Given the description of an element on the screen output the (x, y) to click on. 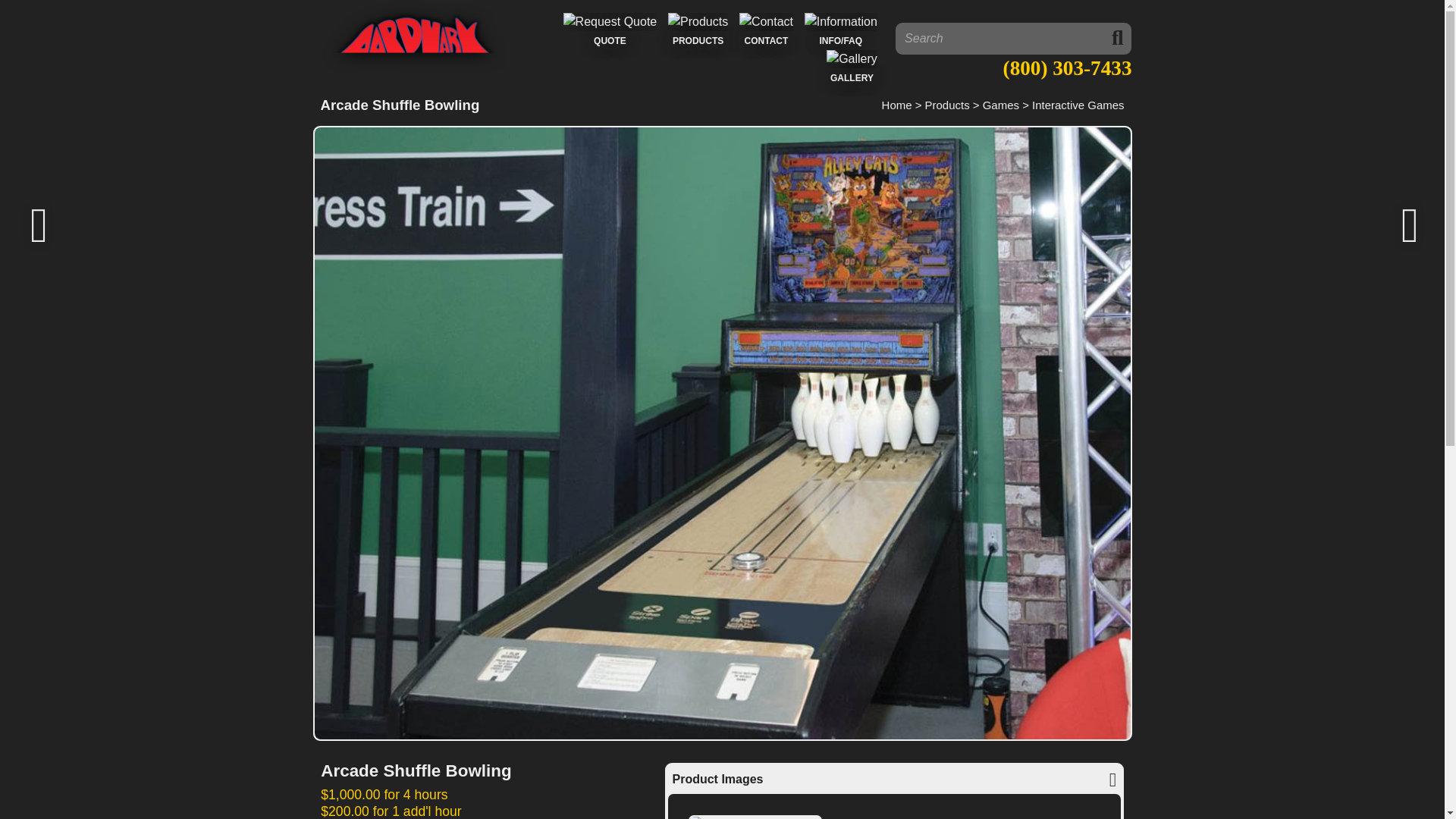
CONTACT (766, 30)
Home (897, 104)
Games (1000, 104)
149 (475, 770)
Products (946, 104)
QUOTE (610, 30)
Interactive Games (1078, 104)
PRODUCTS (698, 30)
GALLERY (852, 67)
Search (1013, 38)
